Given the description of an element on the screen output the (x, y) to click on. 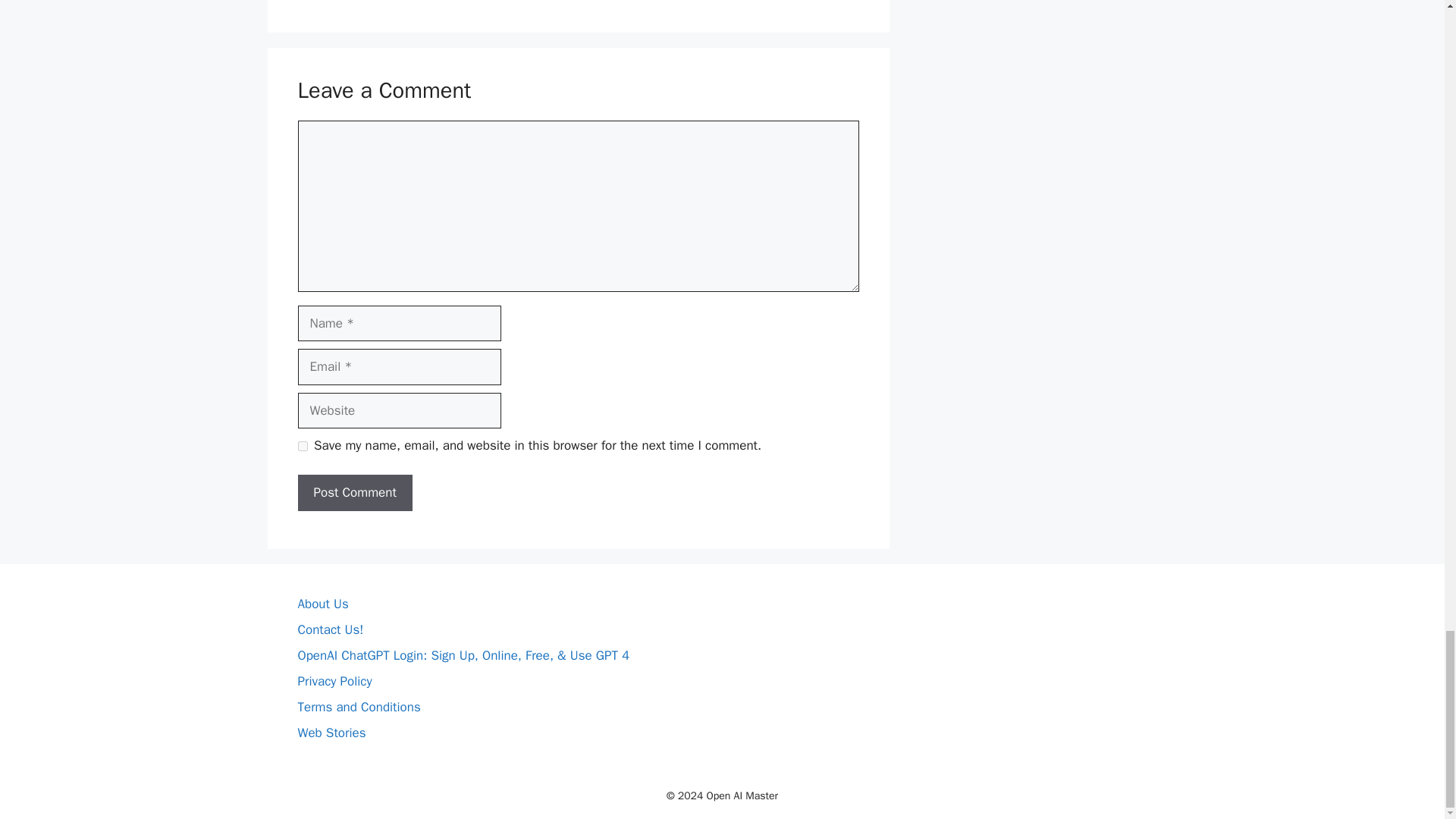
Post Comment (354, 493)
yes (302, 446)
Post Comment (354, 493)
